Given the description of an element on the screen output the (x, y) to click on. 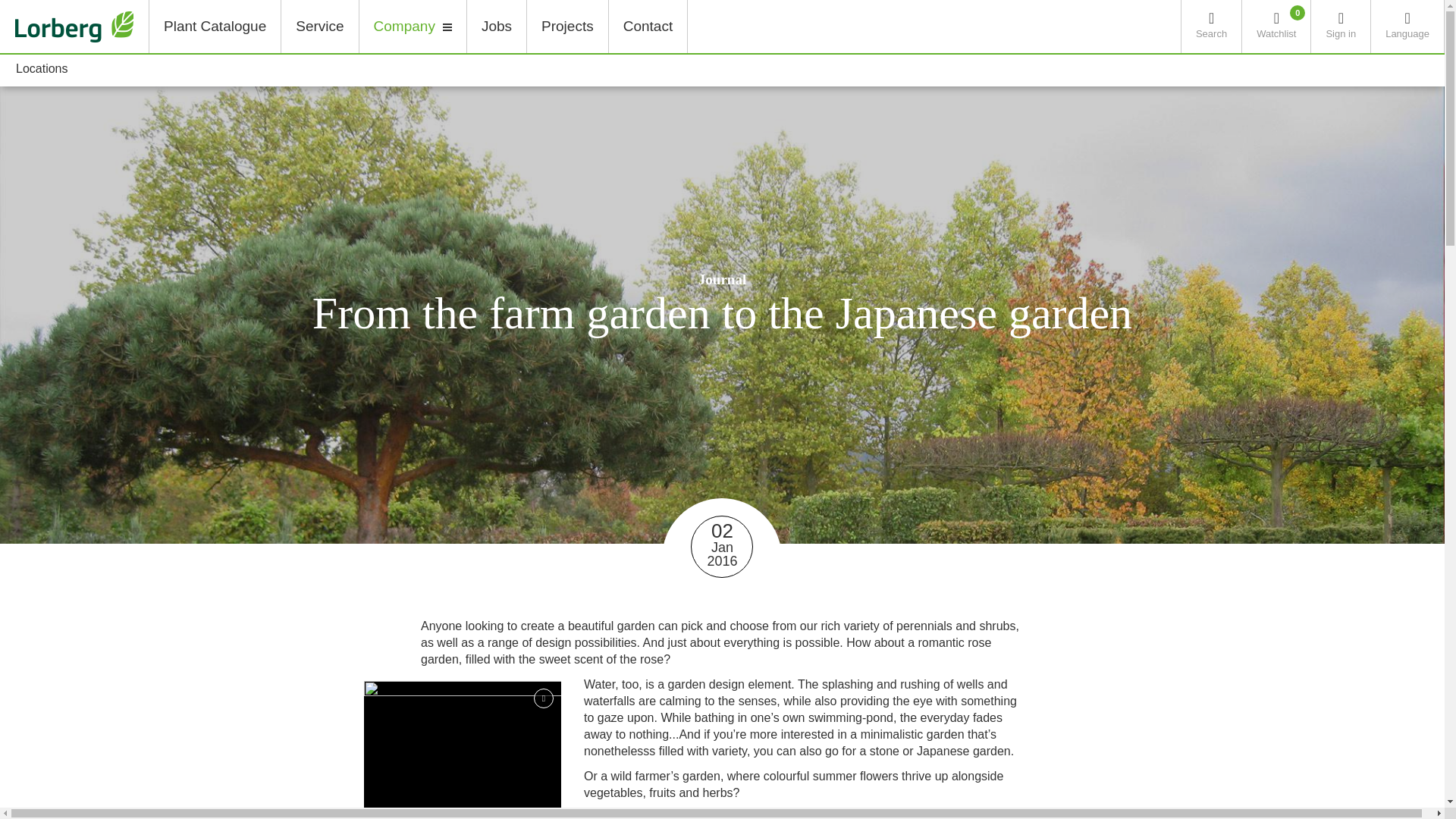
Projects (566, 26)
Service (319, 26)
Service (319, 26)
Locations (41, 69)
Contact (1275, 26)
Plant Catalogue (647, 26)
Language (214, 26)
Plant Catalogue (1407, 26)
Merkliste (214, 26)
